Given the description of an element on the screen output the (x, y) to click on. 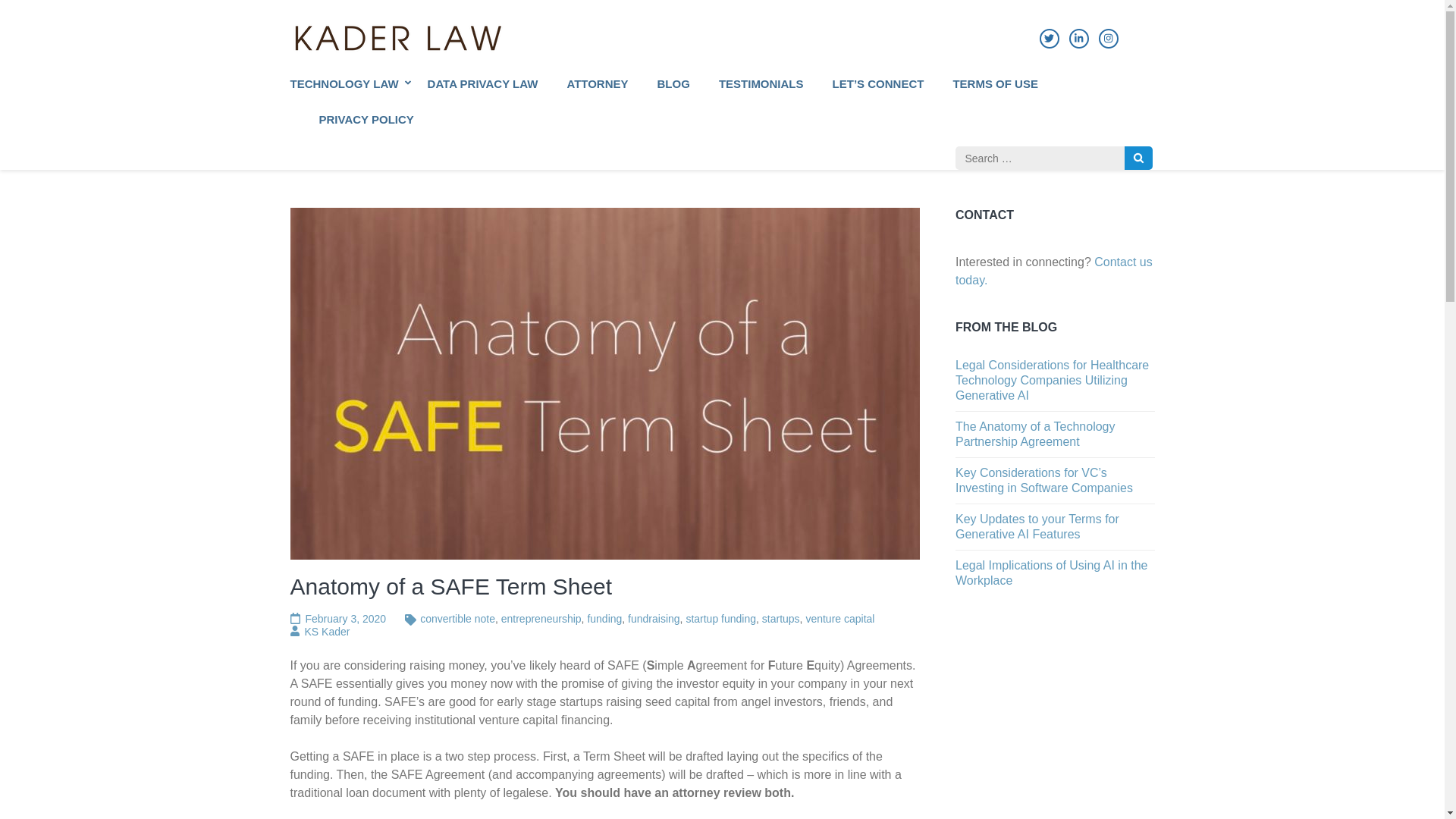
DATA PRIVACY LAW (483, 92)
LinkedIn (1078, 38)
Search (1137, 157)
BLOG (674, 92)
TESTIMONIALS (761, 92)
TECHNOLOGY LAW (343, 92)
Search (1137, 157)
TERMS OF USE (995, 92)
ATTORNEY (596, 92)
Instagram (1107, 38)
Twitter (1048, 38)
